Given the description of an element on the screen output the (x, y) to click on. 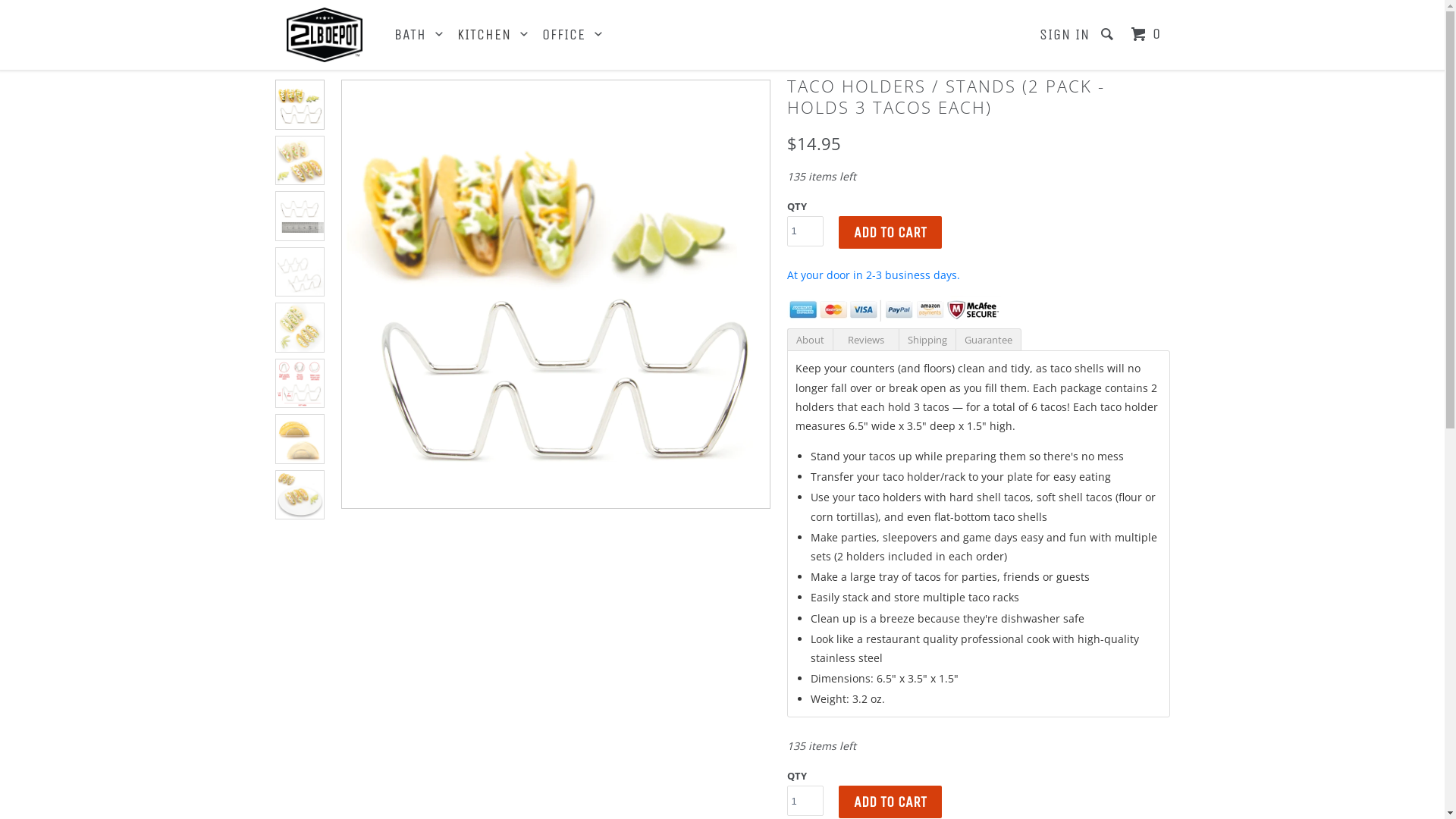
Shipping Element type: text (925, 339)
2LB Depot Element type: hover (324, 34)
Taco Holders / Stands (2 Pack - Holds 3 Tacos Each) Element type: hover (555, 293)
Guarantee Element type: text (988, 339)
SIGN IN Element type: text (1063, 34)
0 Element type: text (1147, 34)
OFFICE   Element type: text (572, 34)
KITCHEN   Element type: text (493, 34)
About Element type: text (809, 339)
ADD TO CART Element type: text (889, 232)
BATH   Element type: text (419, 34)
ADD TO CART Element type: text (889, 801)
Search Element type: hover (1109, 34)
